Given the description of an element on the screen output the (x, y) to click on. 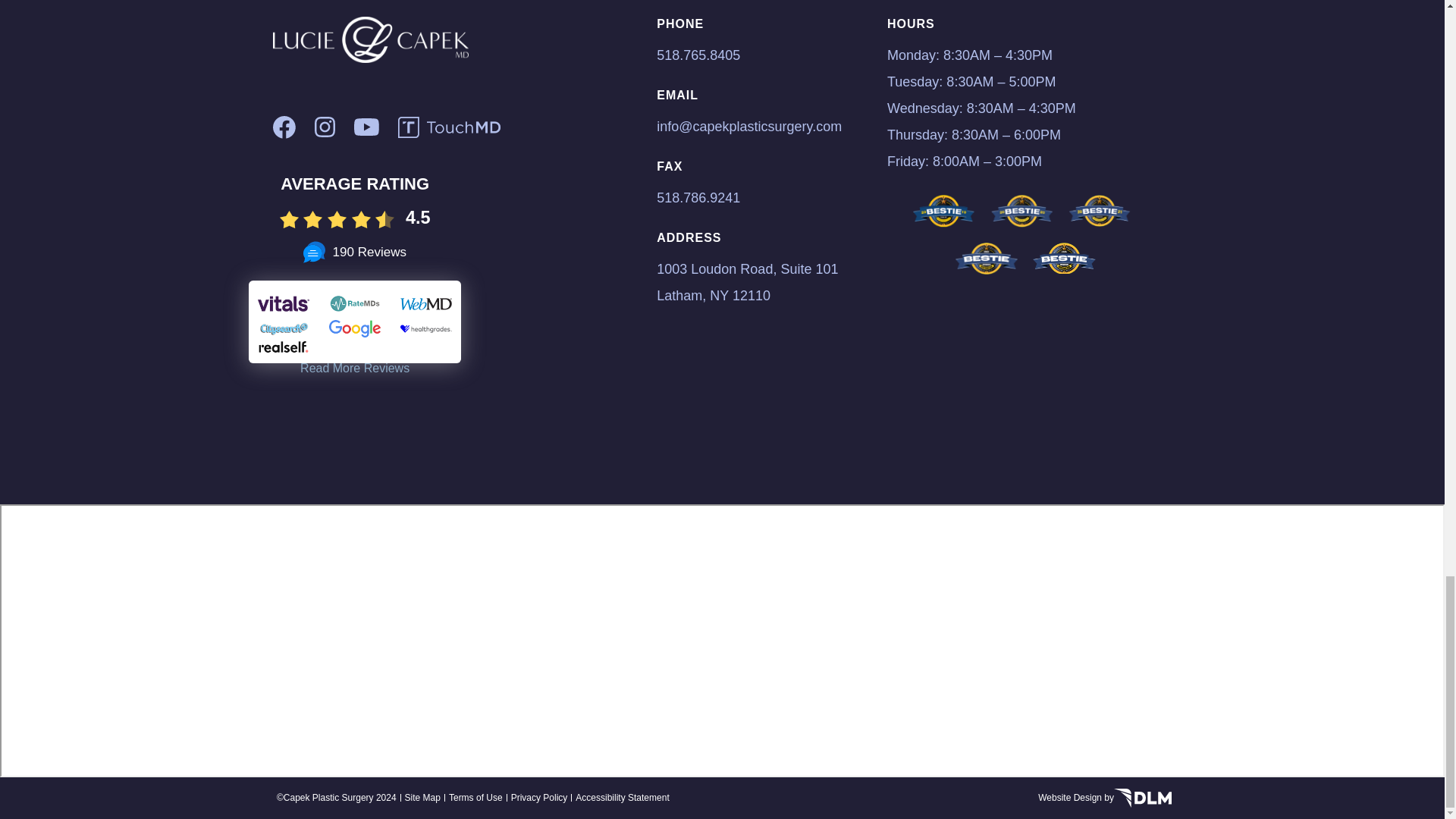
Privacy Policy  (539, 797)
